Given the description of an element on the screen output the (x, y) to click on. 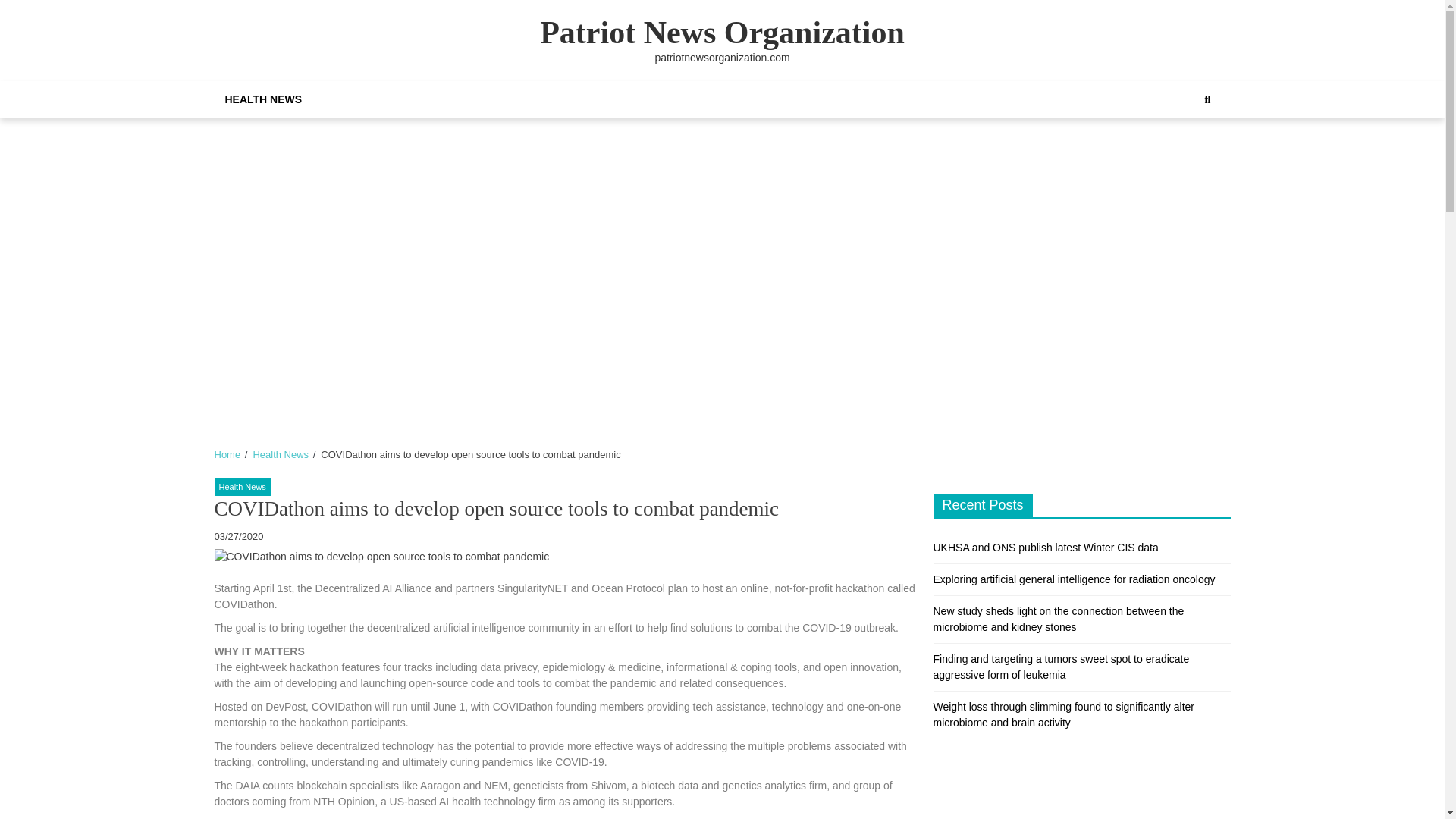
Search (1191, 150)
Health News (241, 486)
Patriot News Organization (722, 32)
UKHSA and ONS publish latest Winter CIS data (1045, 547)
Health News (279, 454)
Home (227, 454)
